Given the description of an element on the screen output the (x, y) to click on. 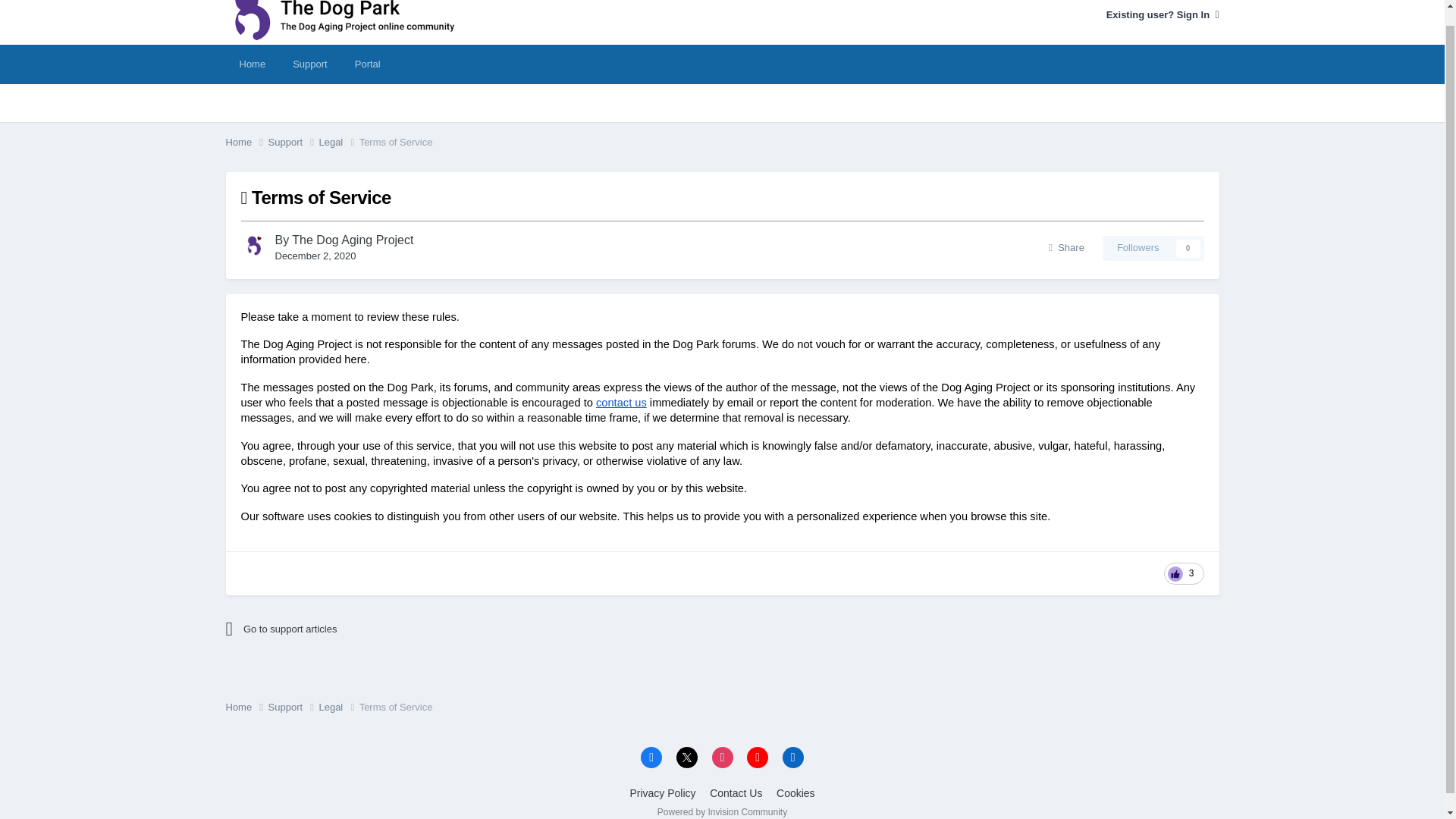
Home (252, 64)
Support (292, 142)
Invision Community (722, 811)
Support (309, 64)
Like (1183, 573)
Portal (367, 64)
Go to support articles (358, 629)
 contact us (619, 402)
Sign in to follow this (1153, 247)
Home (246, 707)
Home (246, 142)
 Share (1066, 247)
Existing user? Sign In   (1163, 14)
Go to Legal (1153, 247)
